Given the description of an element on the screen output the (x, y) to click on. 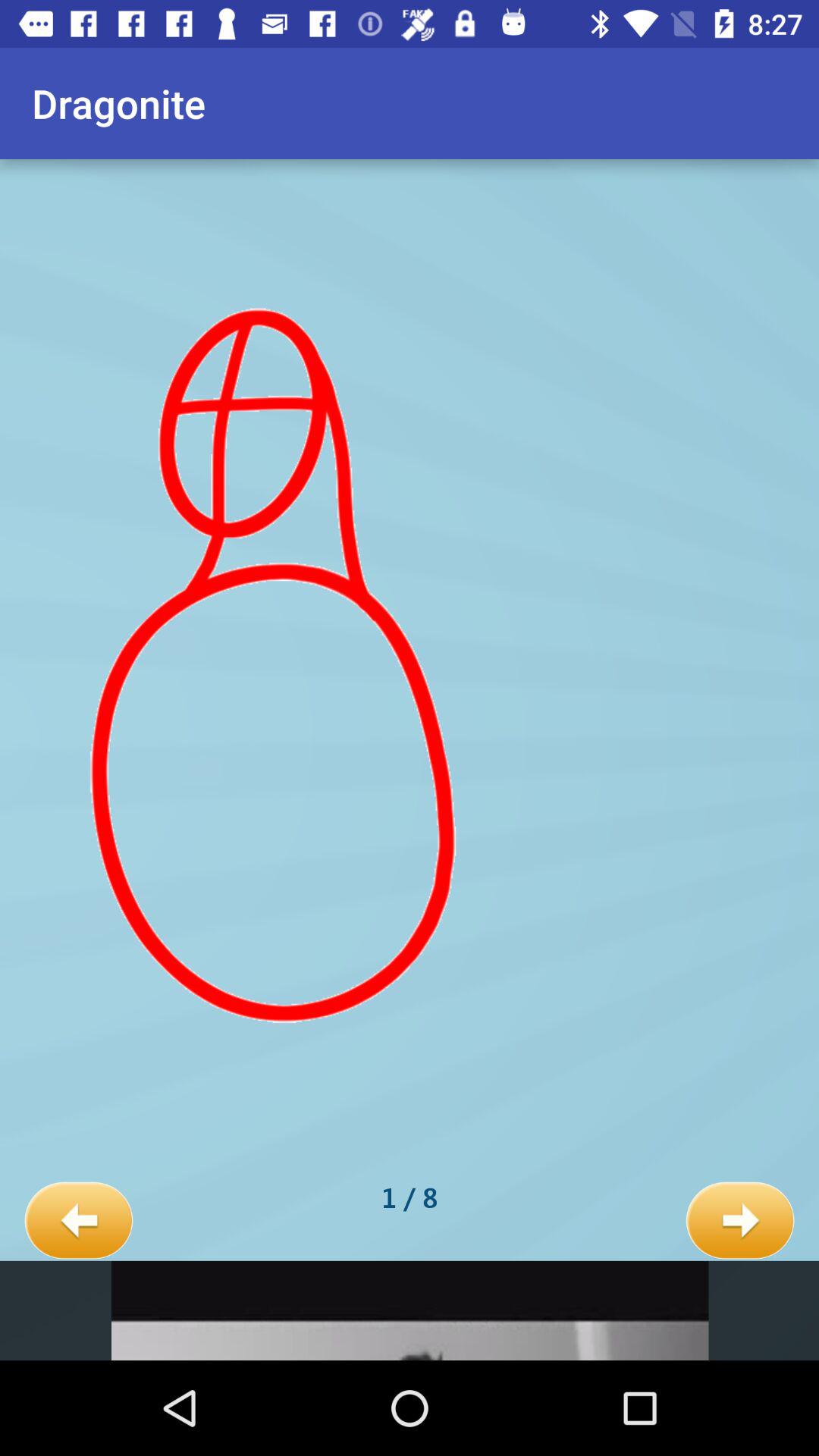
press icon next to 1 / 8 item (740, 1220)
